Given the description of an element on the screen output the (x, y) to click on. 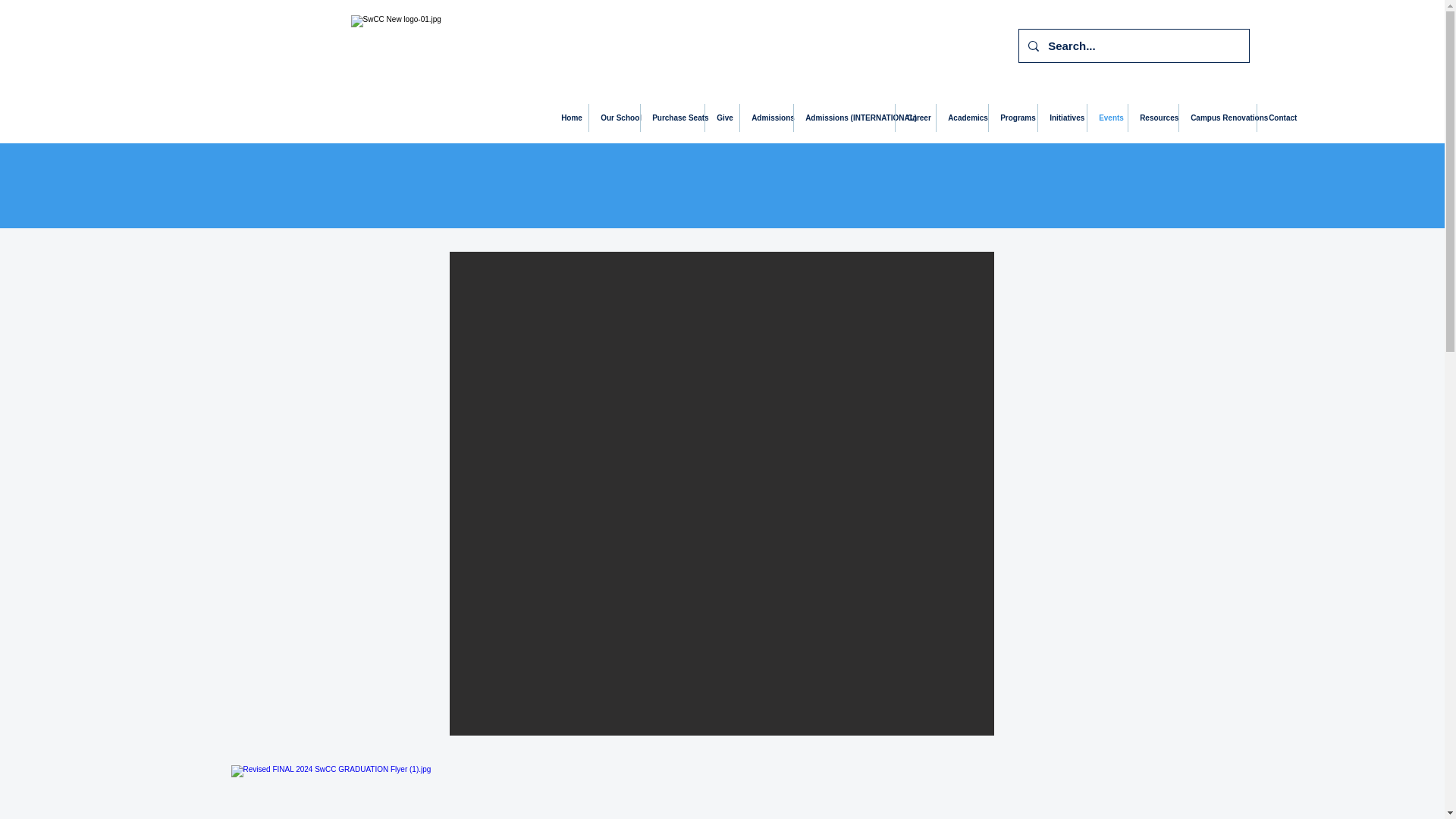
Home (569, 117)
Initiatives (1062, 117)
Admissions (766, 117)
Career (915, 117)
Academics (962, 117)
Events (1106, 117)
Give (721, 117)
Programs (1012, 117)
Our School (614, 117)
Purchase Seats (672, 117)
